Given the description of an element on the screen output the (x, y) to click on. 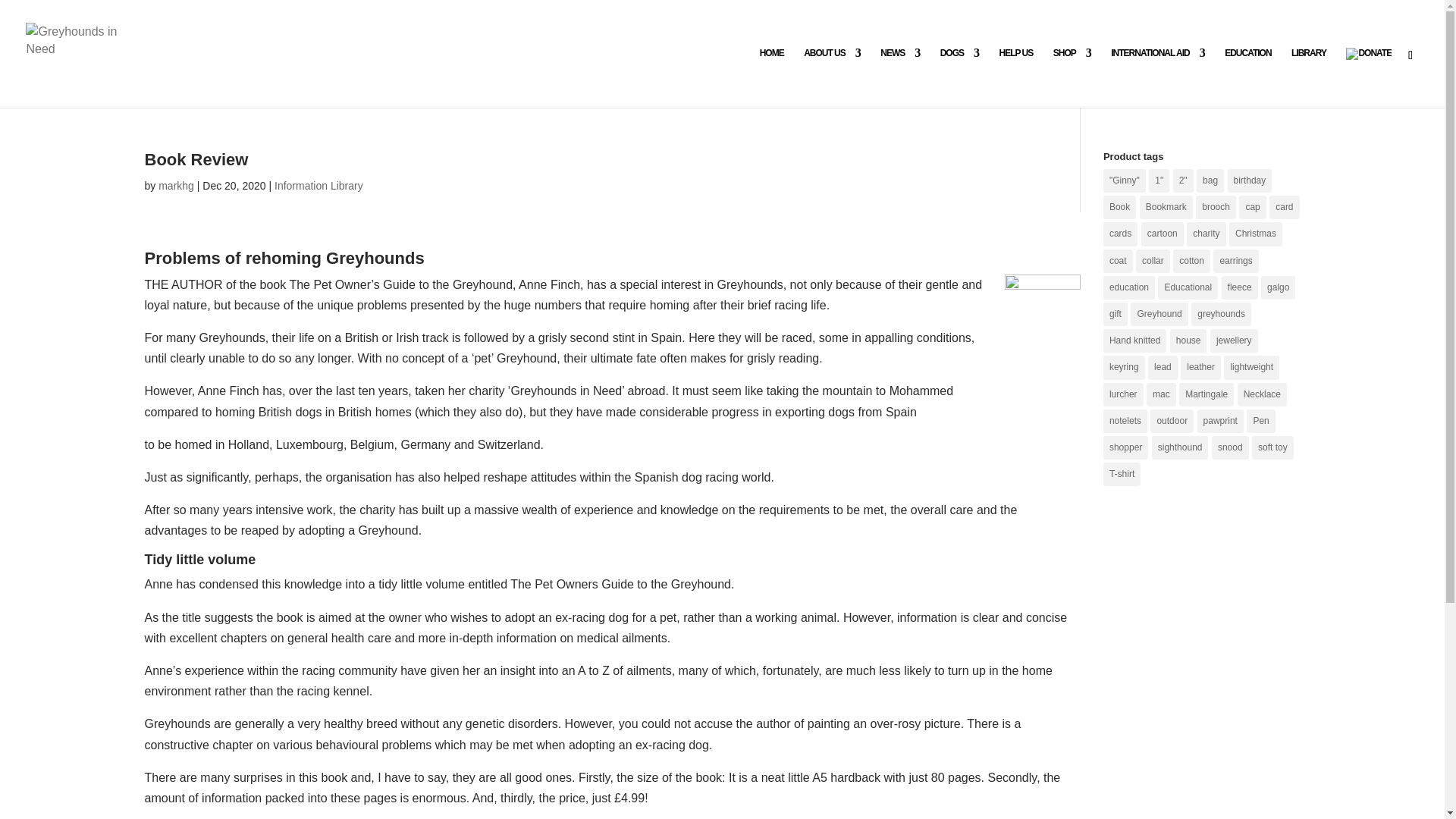
bag (1210, 180)
Posts by markhg (175, 185)
"Ginny" (1124, 180)
markhg (175, 185)
Information Library (318, 185)
birthday (1249, 180)
ABOUT US (831, 76)
Book (1119, 207)
INTERNATIONAL AID (1157, 76)
